Given the description of an element on the screen output the (x, y) to click on. 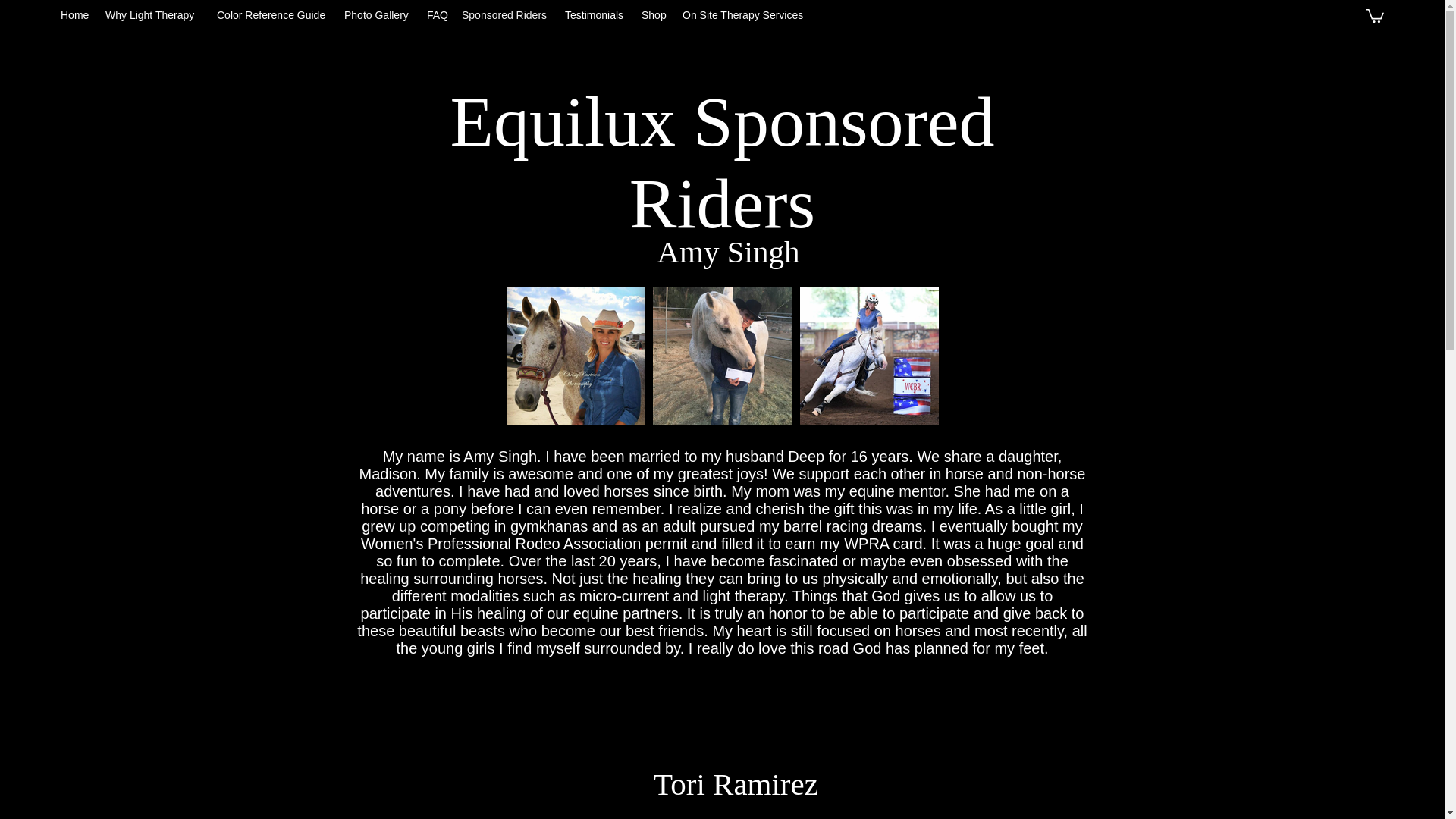
Shop (654, 15)
Testimonials (595, 15)
Color Reference Guide (272, 15)
On Site Therapy Services (745, 15)
FAQ (436, 15)
Home (74, 15)
Why Light Therapy (153, 15)
Photo Gallery (377, 15)
Sponsored Riders (505, 15)
